Given the description of an element on the screen output the (x, y) to click on. 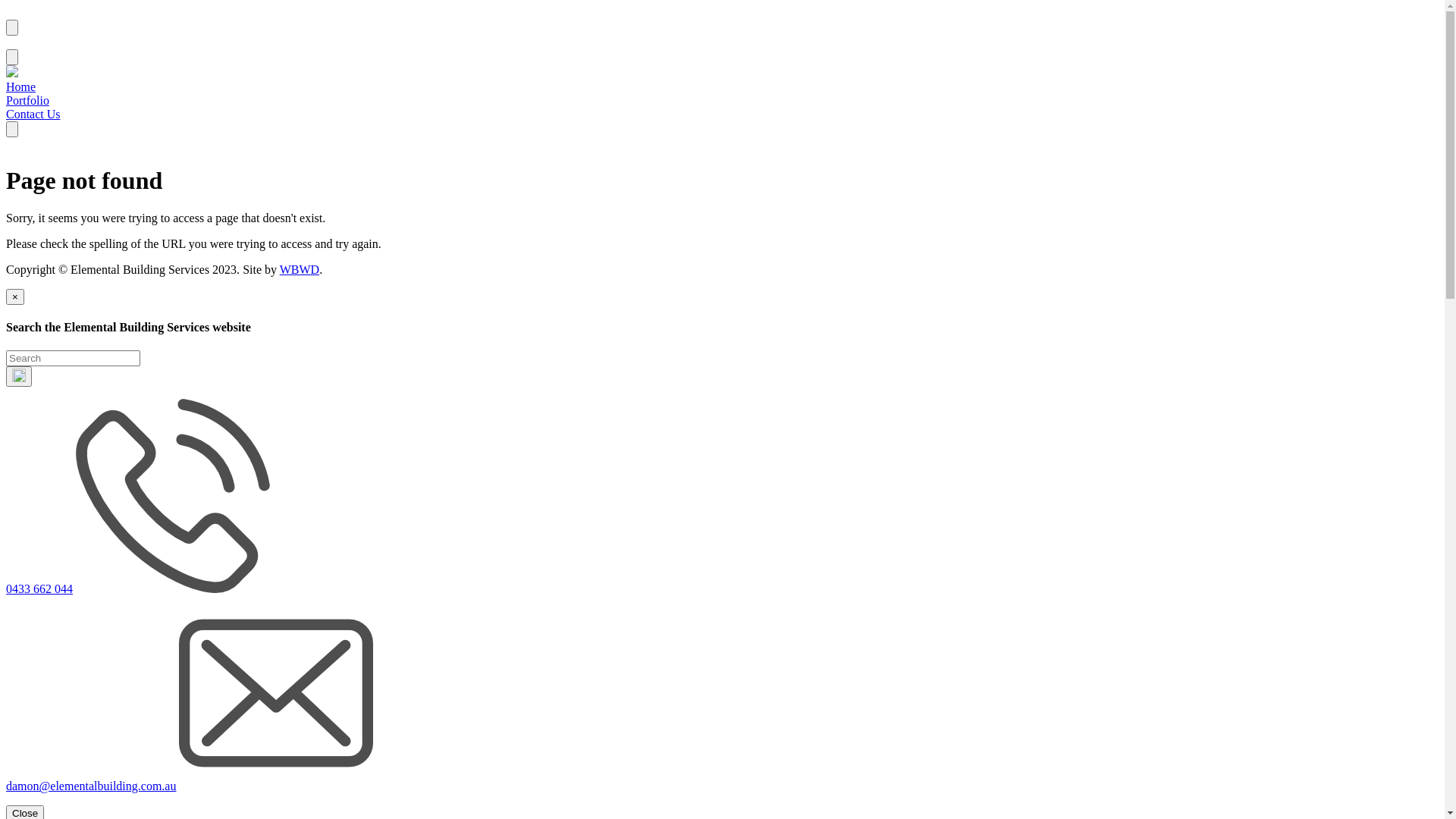
damon@elementalbuilding.com.au Element type: text (90, 785)
Portfolio Element type: text (27, 100)
Contact Us Element type: text (33, 113)
Home Element type: text (20, 86)
WBWD Element type: text (299, 269)
0433 662 044 Element type: text (39, 588)
